Given the description of an element on the screen output the (x, y) to click on. 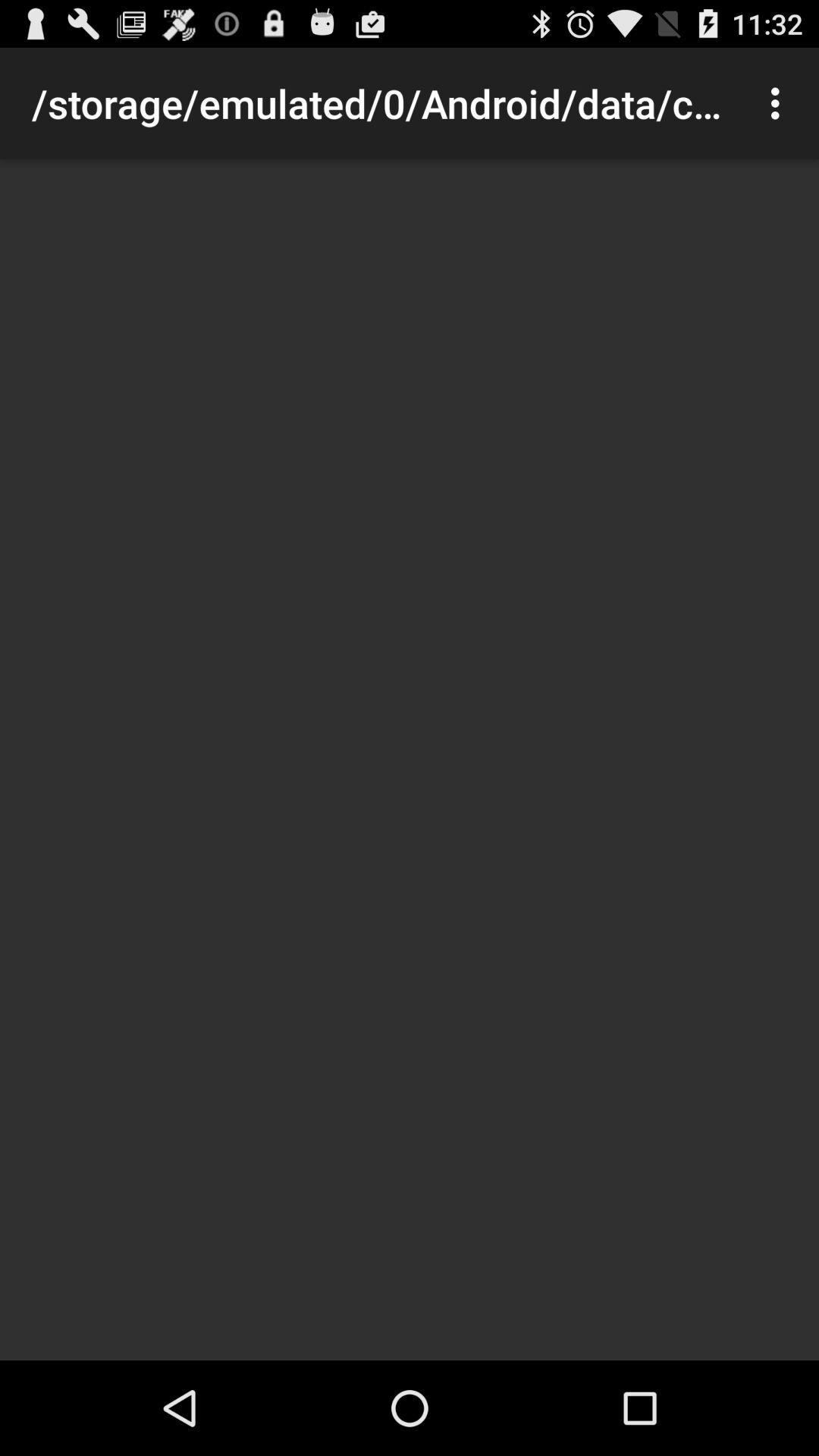
turn off item at the center (409, 759)
